Given the description of an element on the screen output the (x, y) to click on. 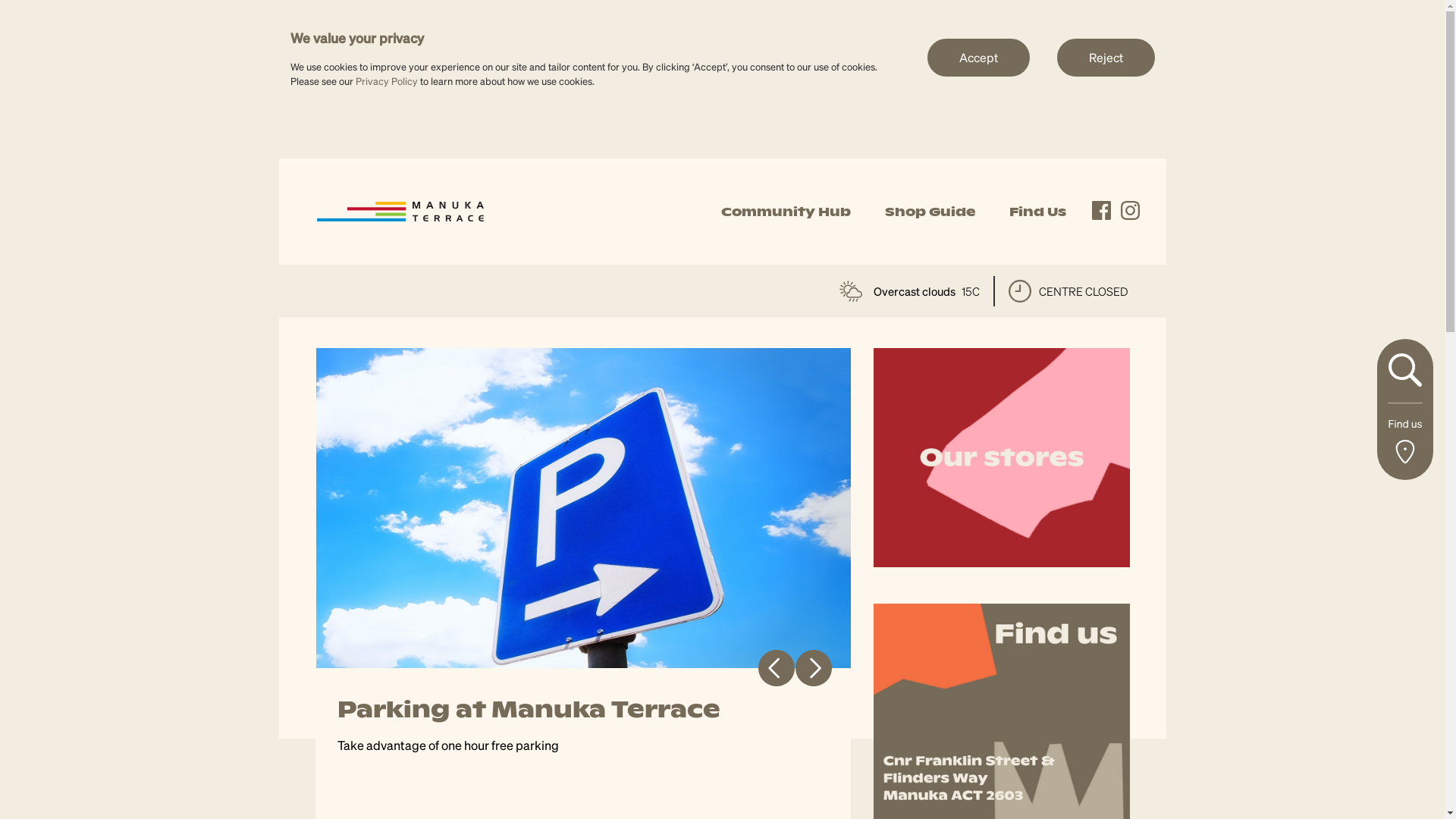
CENTRE CLOSED Element type: text (1068, 290)
Privacy Policy Element type: text (385, 80)
Reject Element type: text (1105, 56)
instagram Element type: hover (1129, 209)
Shop Guide Element type: text (929, 211)
Next Element type: text (812, 667)
Previous Element type: text (776, 667)
Accept Element type: text (977, 56)
Find Us Element type: text (1036, 211)
time Element type: hover (1019, 290)
Community Hub Element type: text (785, 211)
facebook Element type: hover (1101, 209)
